Given the description of an element on the screen output the (x, y) to click on. 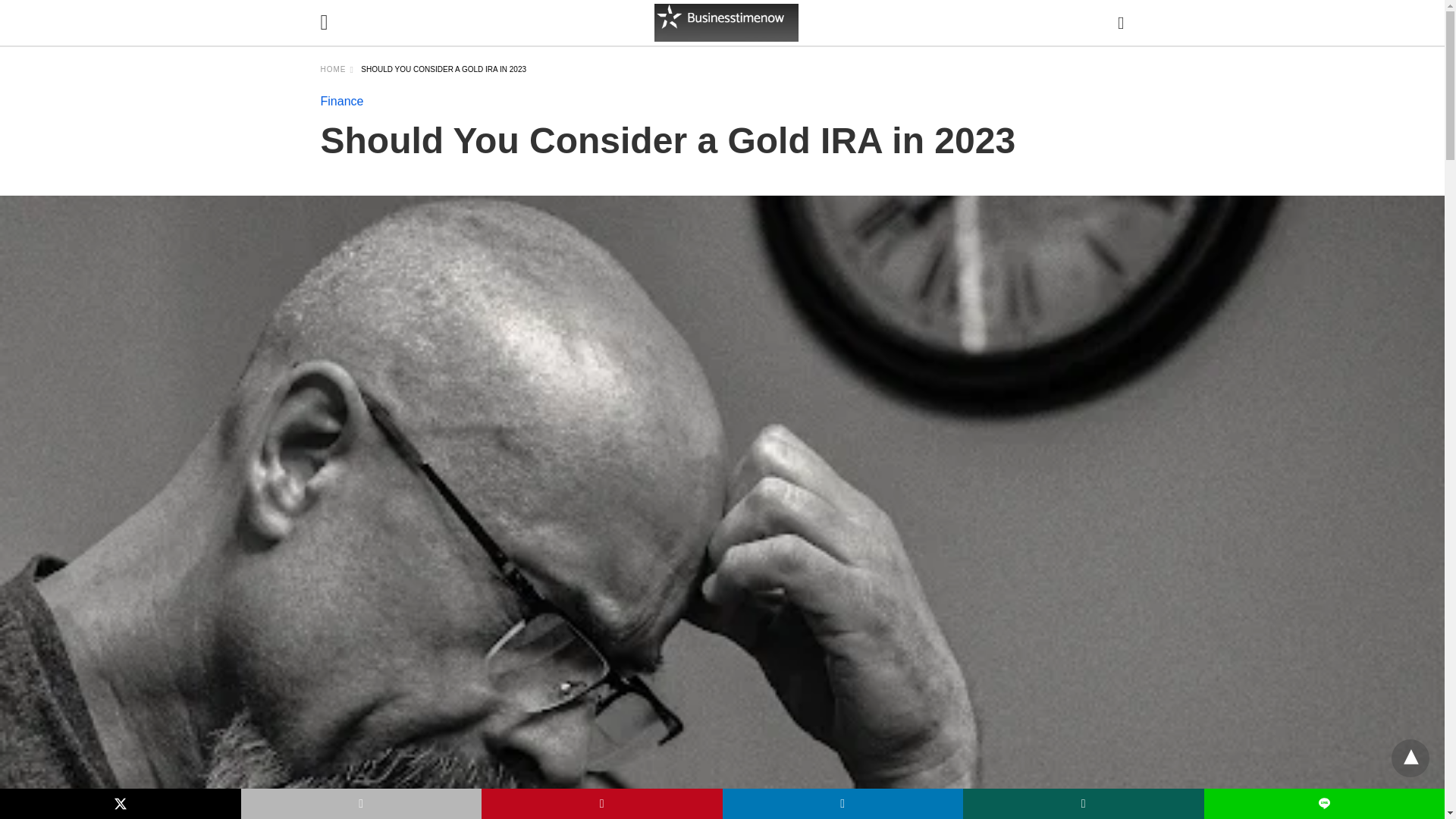
Business Timenow (725, 22)
Finance (341, 101)
HOME (336, 69)
Finance (341, 101)
twitter share (120, 803)
